Given the description of an element on the screen output the (x, y) to click on. 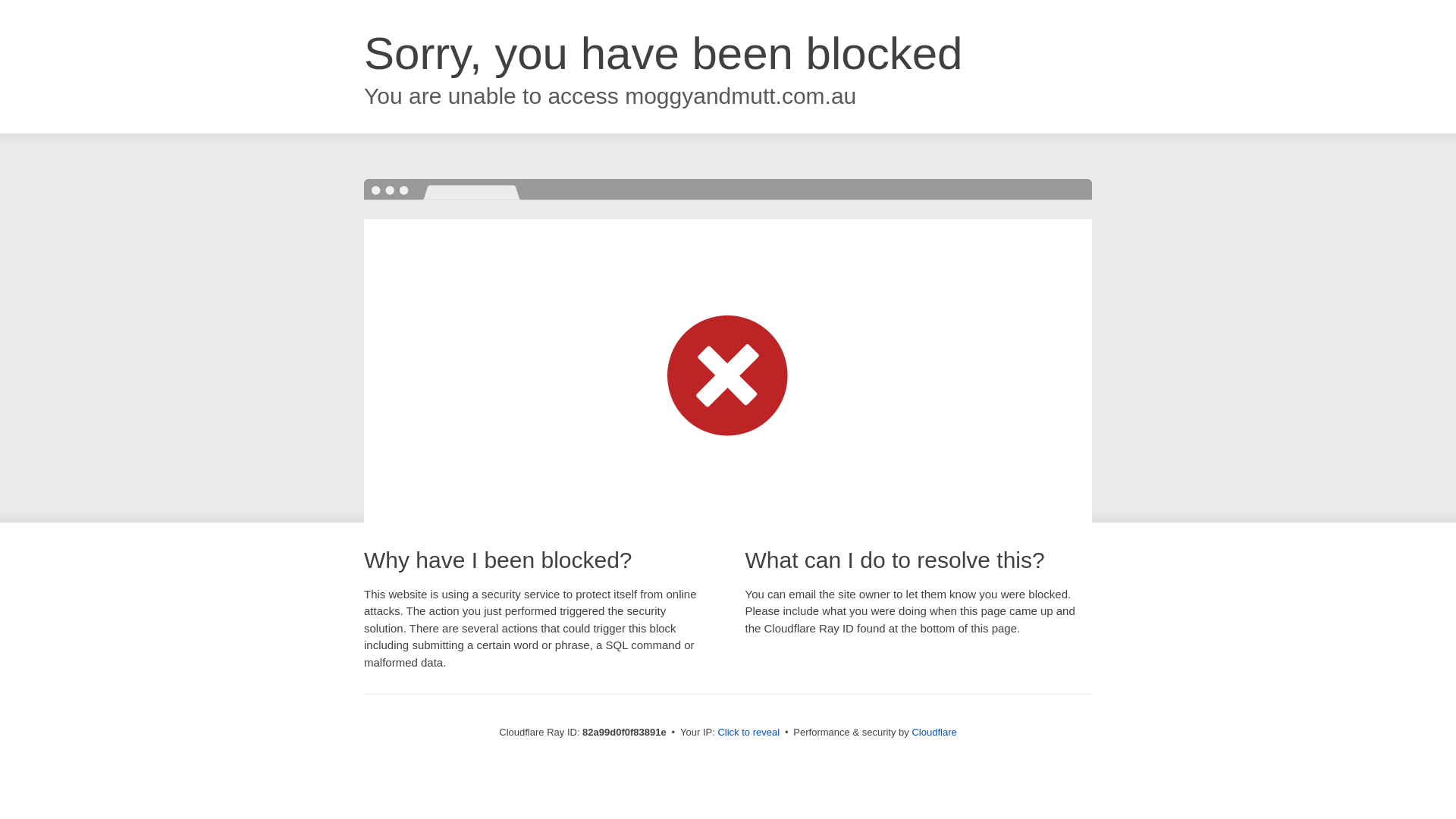
Cloudflare Element type: text (933, 731)
Click to reveal Element type: text (748, 732)
